Given the description of an element on the screen output the (x, y) to click on. 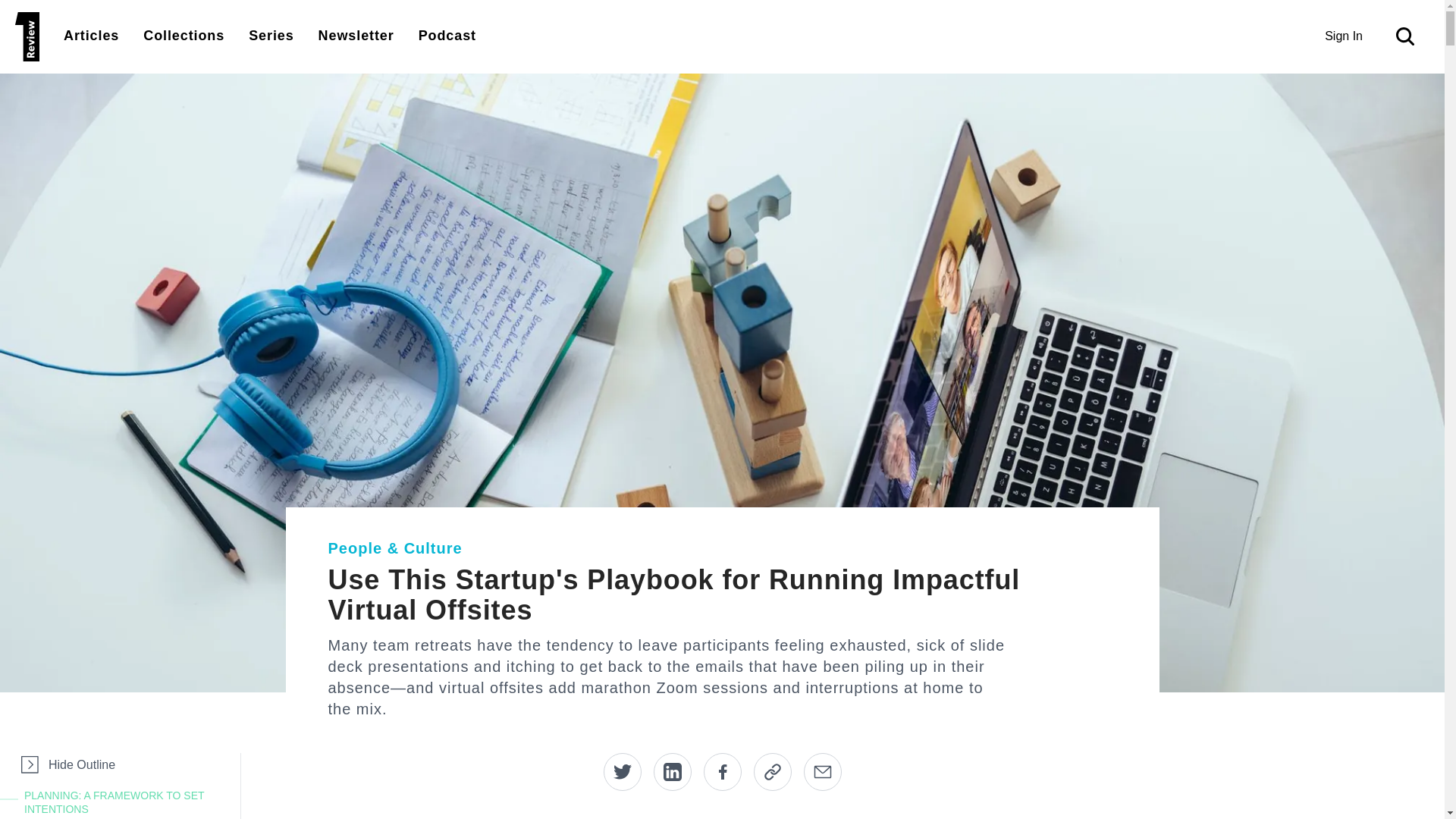
Podcast (446, 35)
Share on Facebook (722, 771)
Share on Linkedin (672, 771)
Share by email (822, 771)
Articles (91, 35)
Sign In (1343, 36)
Collections (182, 35)
Copy URL (773, 771)
Search (1408, 36)
PLANNING: A FRAMEWORK TO SET INTENTIONS (129, 802)
